Given the description of an element on the screen output the (x, y) to click on. 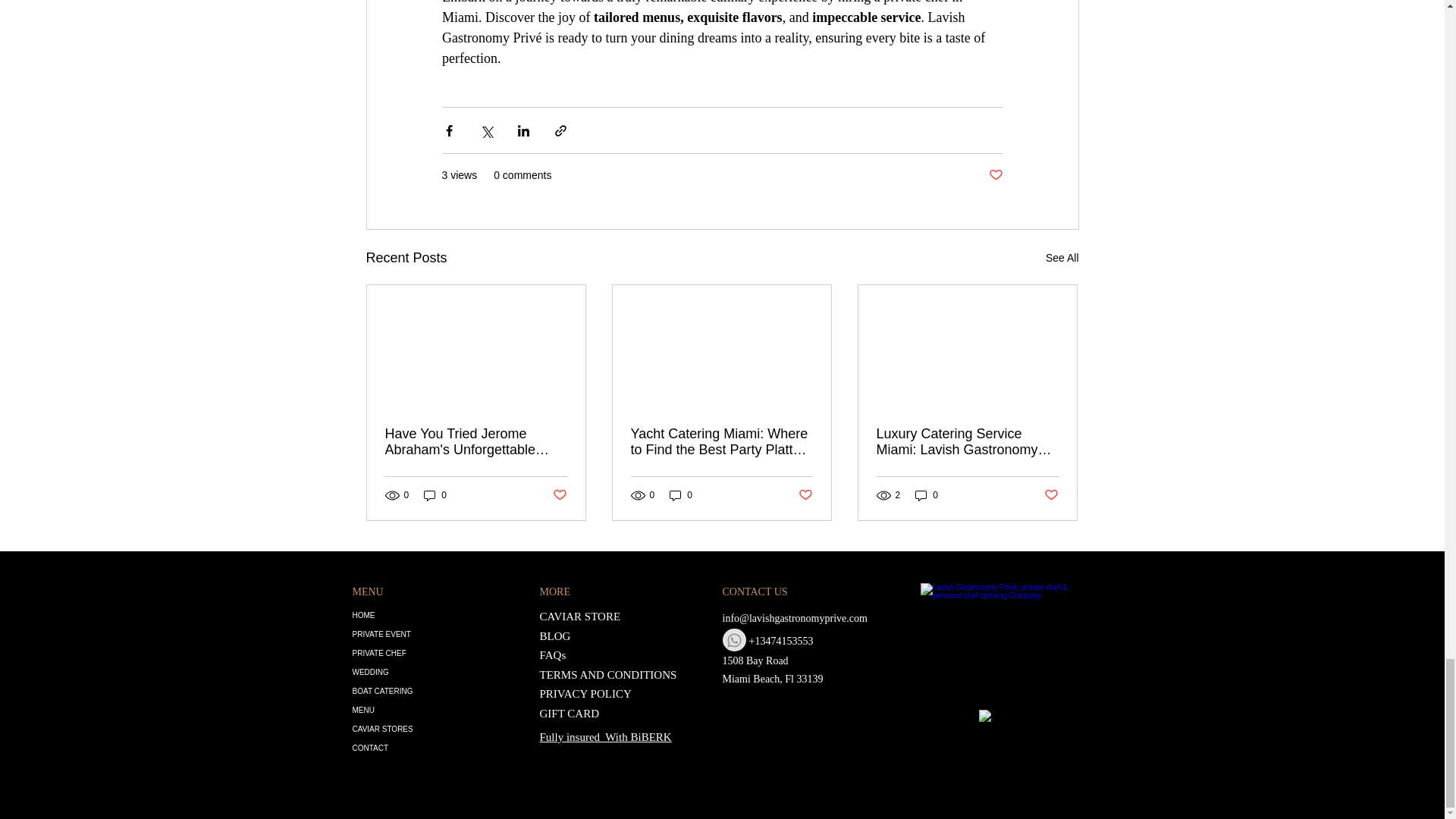
Post not marked as liked (558, 495)
0 (926, 494)
HOME (414, 615)
0 (435, 494)
See All (1061, 258)
0 (681, 494)
Post not marked as liked (995, 175)
Post not marked as liked (1050, 495)
awards from epertise.com (999, 726)
